Given the description of an element on the screen output the (x, y) to click on. 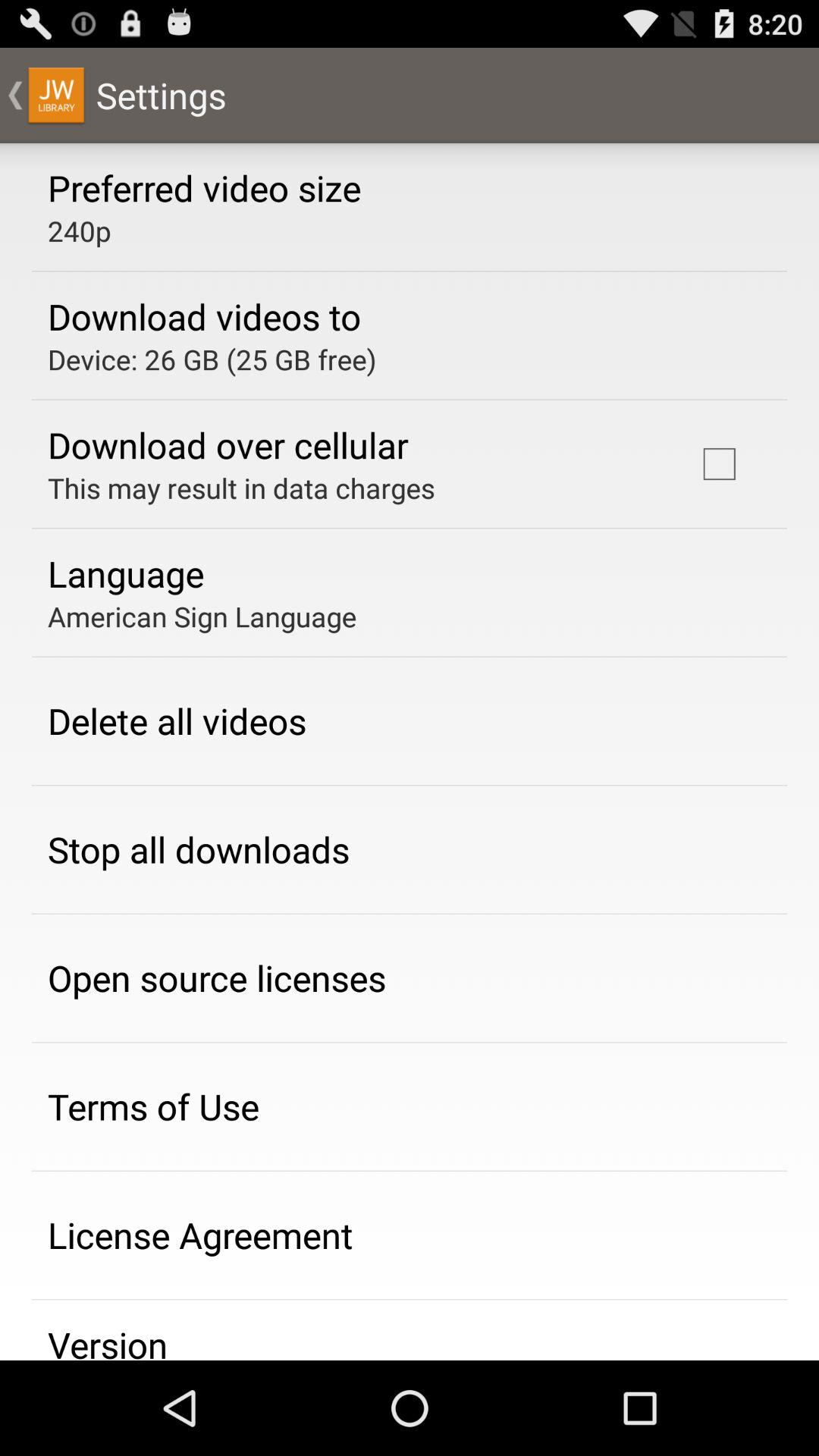
launch item below download videos to app (211, 359)
